Given the description of an element on the screen output the (x, y) to click on. 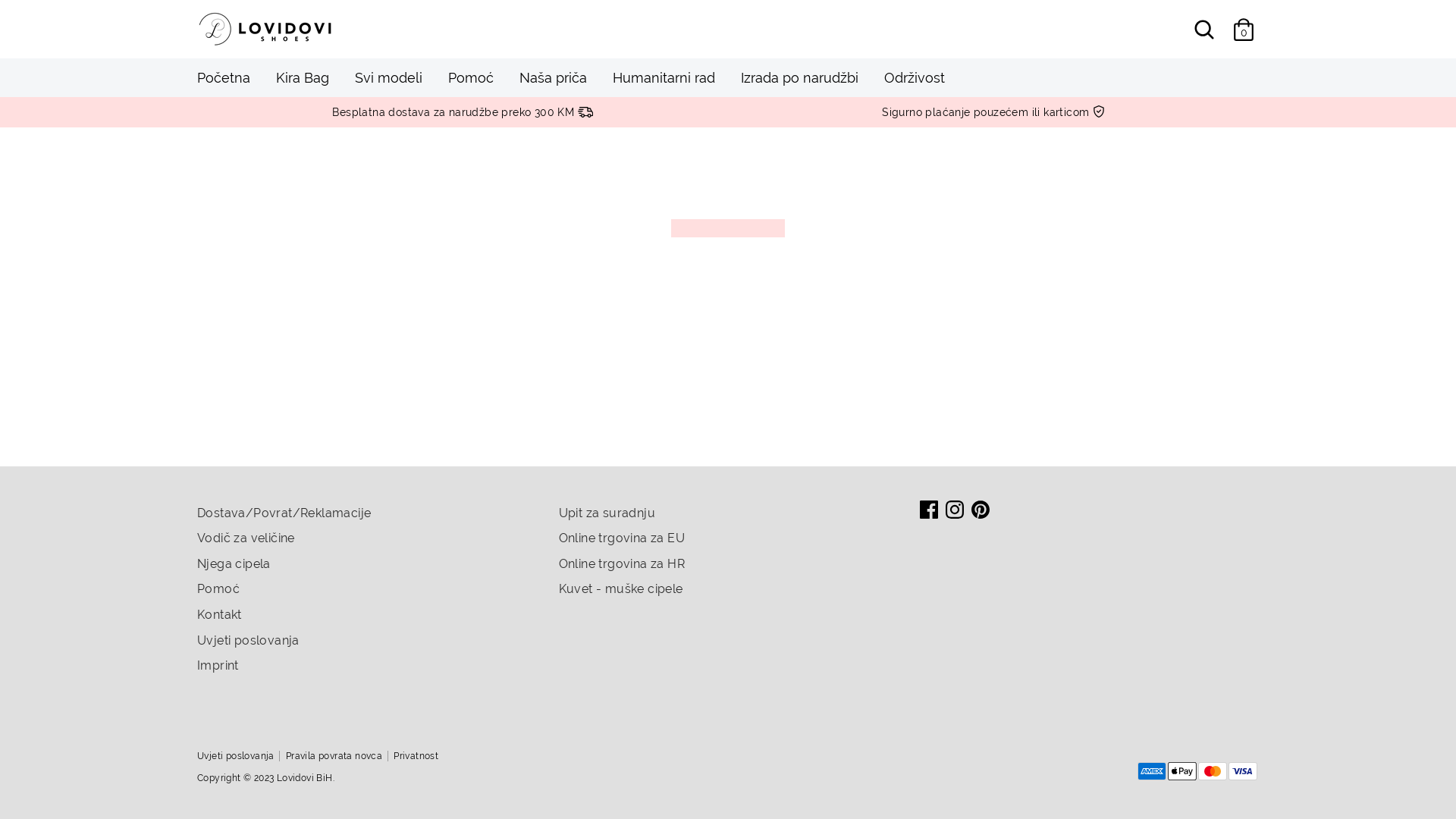
Dostava/Povrat/Reklamacije Element type: text (283, 512)
Kira Bag Element type: text (302, 82)
Uvjeti poslovanja Element type: text (241, 755)
Privatnost Element type: text (421, 755)
Humanitarni rad Element type: text (663, 82)
Uvjeti poslovanja Element type: text (248, 640)
Njega cipela Element type: text (233, 563)
Imprint Element type: text (217, 665)
0 Element type: text (1243, 28)
Online trgovina za HR Element type: text (621, 563)
Kontakt Element type: text (219, 614)
Upit za suradnju Element type: text (606, 512)
Online trgovina za EU Element type: text (621, 537)
Lovidovi BiH Element type: text (304, 777)
Svi modeli Element type: text (388, 82)
Pravila povrata novca Element type: text (339, 755)
